Given the description of an element on the screen output the (x, y) to click on. 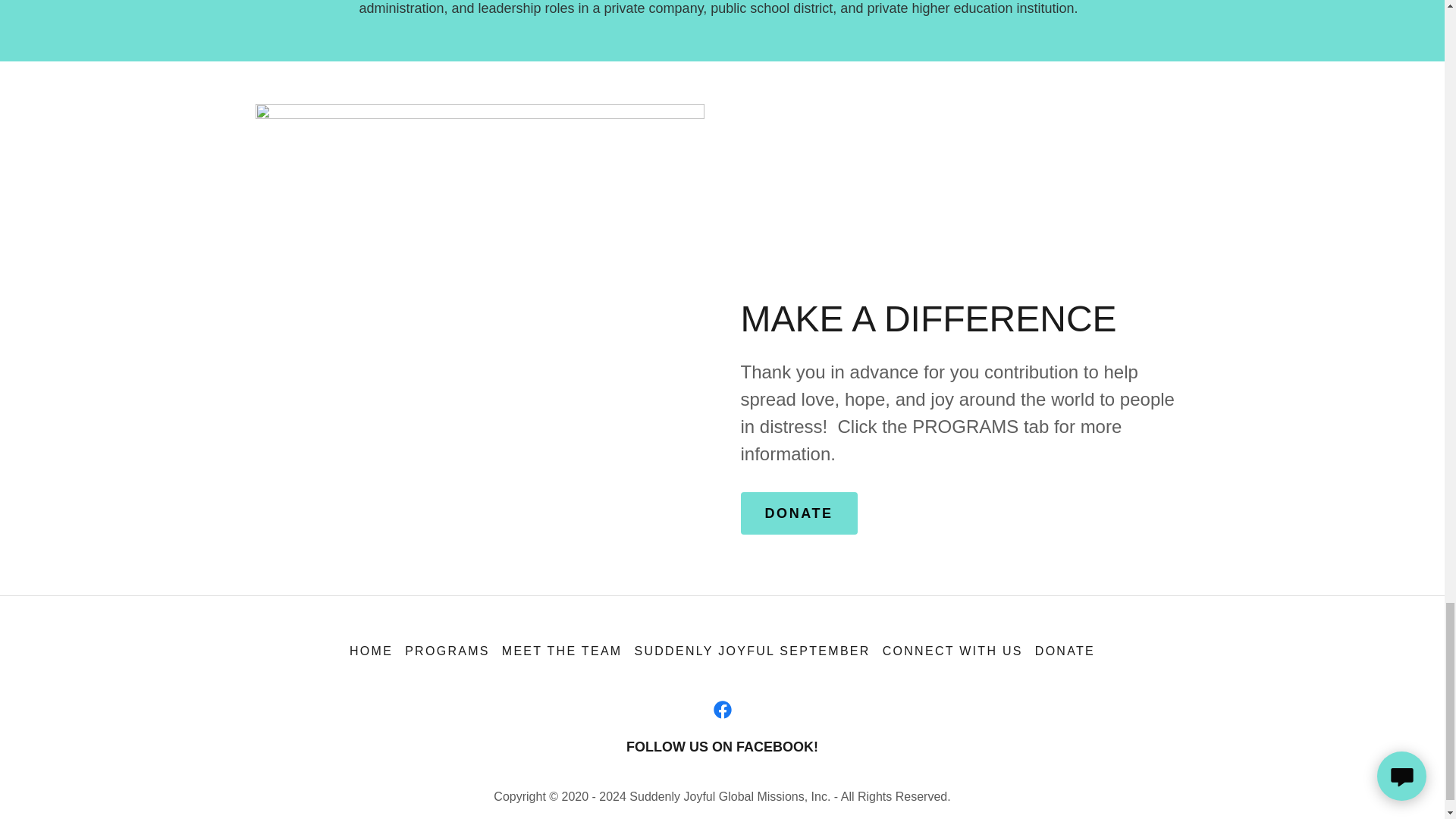
HOME (370, 651)
CONNECT WITH US (952, 651)
DONATE (1064, 651)
PROGRAMS (447, 651)
SUDDENLY JOYFUL SEPTEMBER (751, 651)
DONATE (798, 513)
MEET THE TEAM (562, 651)
